Given the description of an element on the screen output the (x, y) to click on. 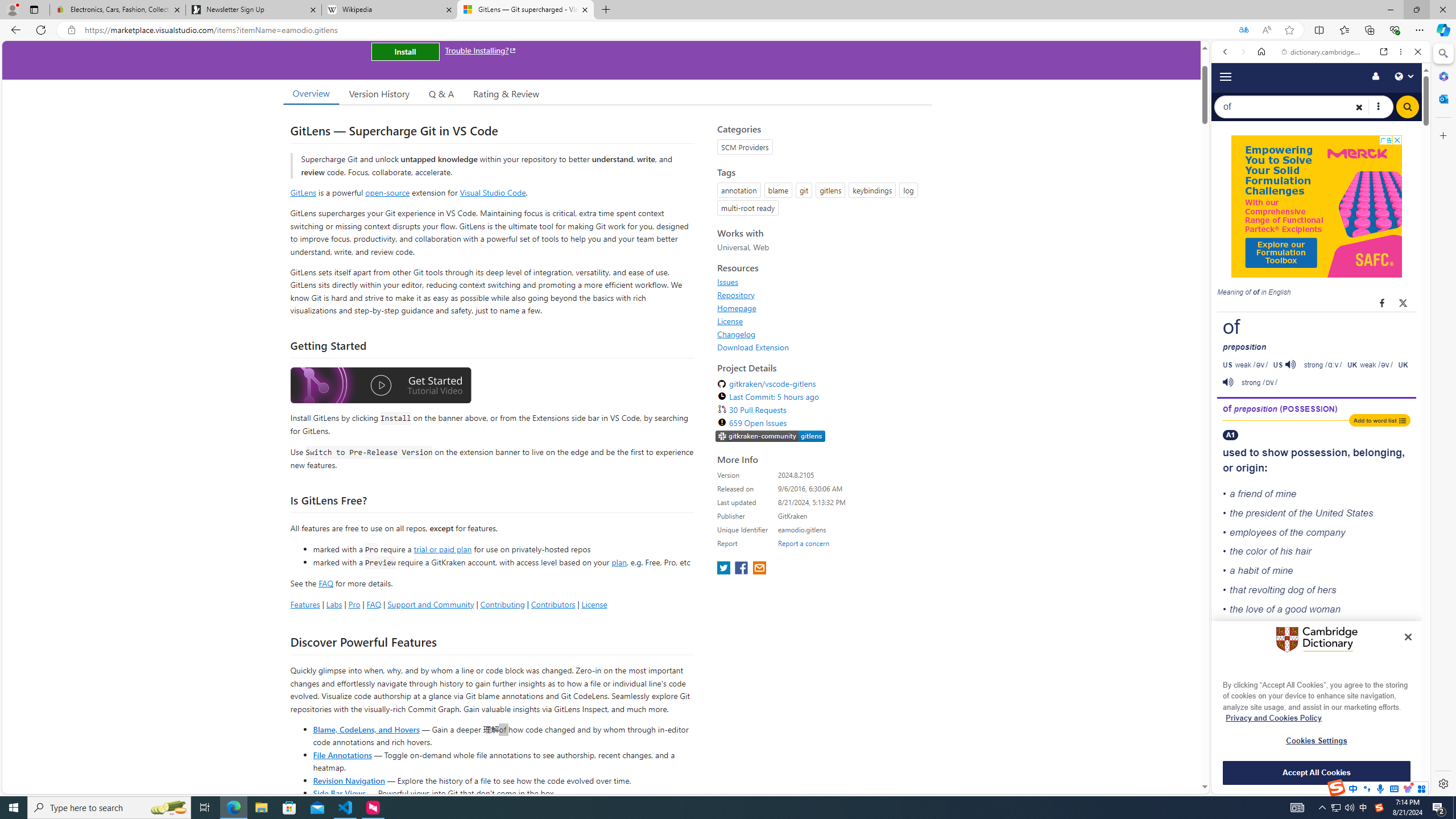
share extension on twitter (724, 568)
Wikipedia (390, 9)
Watch the GitLens Getting Started video (380, 385)
Version History (379, 92)
Close autocomplete (1316, 77)
